Given the description of an element on the screen output the (x, y) to click on. 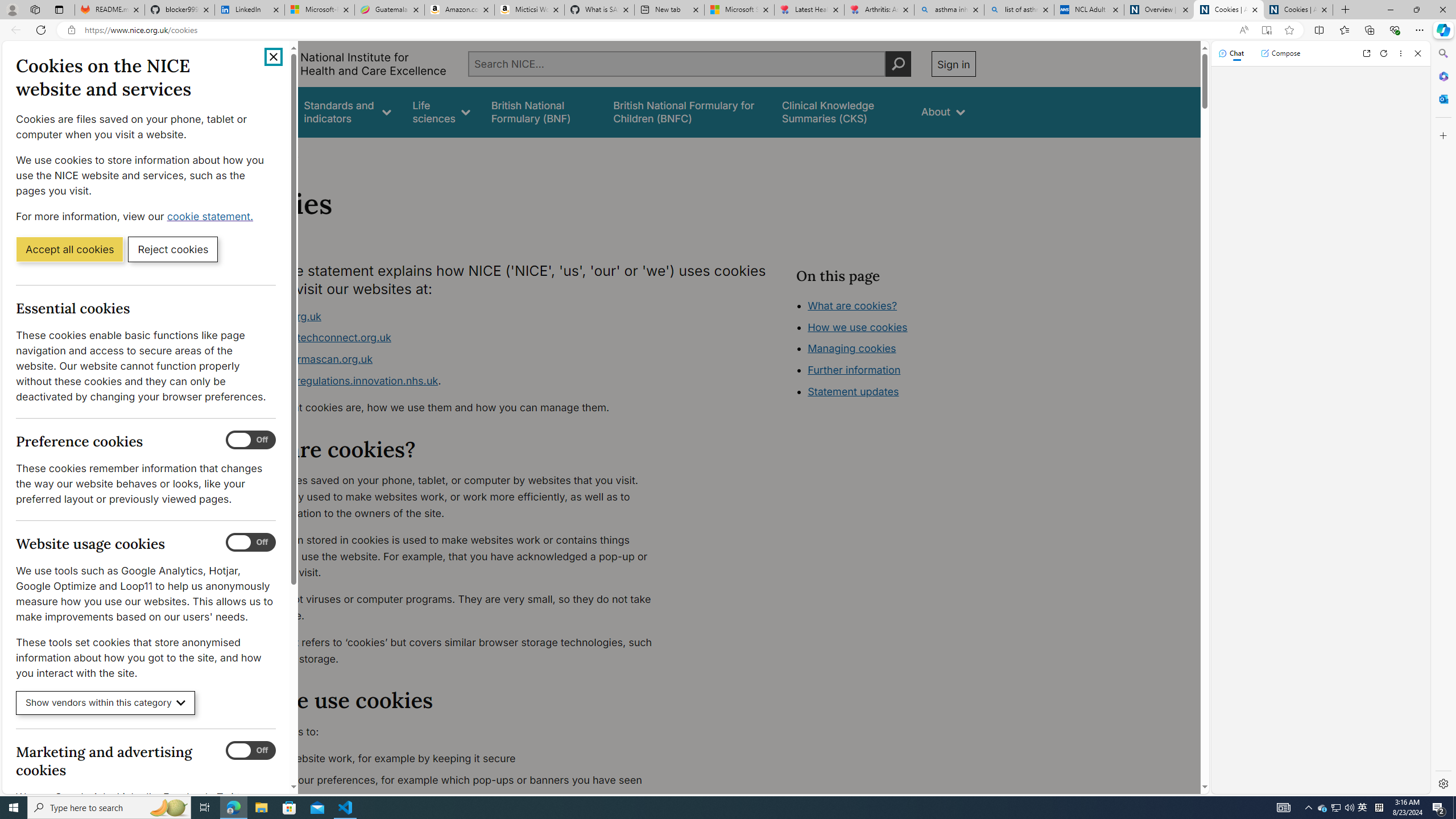
Compose (1280, 52)
Chat (1231, 52)
Life sciences (440, 111)
asthma inhaler - Search (949, 9)
Guidance (260, 111)
Class: in-page-nav__list (884, 349)
Show vendors within this category (105, 703)
